Given the description of an element on the screen output the (x, y) to click on. 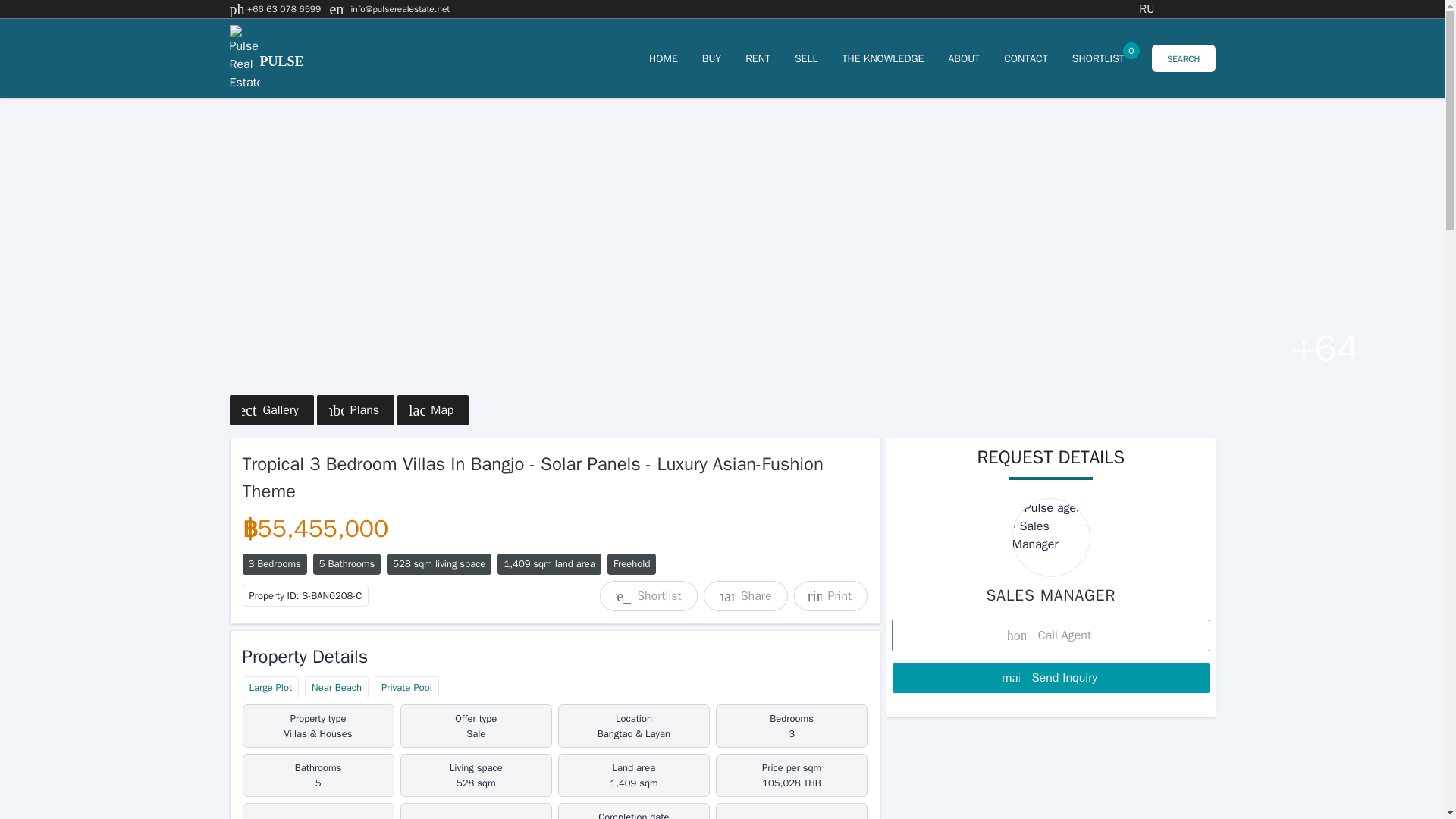
ABOUT (963, 57)
About Pulse Real Estate (1097, 57)
Property Shortlist (963, 57)
Property for rent in Phuket (1097, 57)
Home - Pulse Real Estate (757, 57)
Sell your property in Phuket (663, 57)
SELL (806, 57)
BUY (806, 57)
THE KNOWLEDGE (710, 57)
Contact Pulse Real Estate (882, 57)
Email (1026, 57)
HOME (399, 8)
SEARCH (663, 57)
CONTACT (1183, 58)
